Given the description of an element on the screen output the (x, y) to click on. 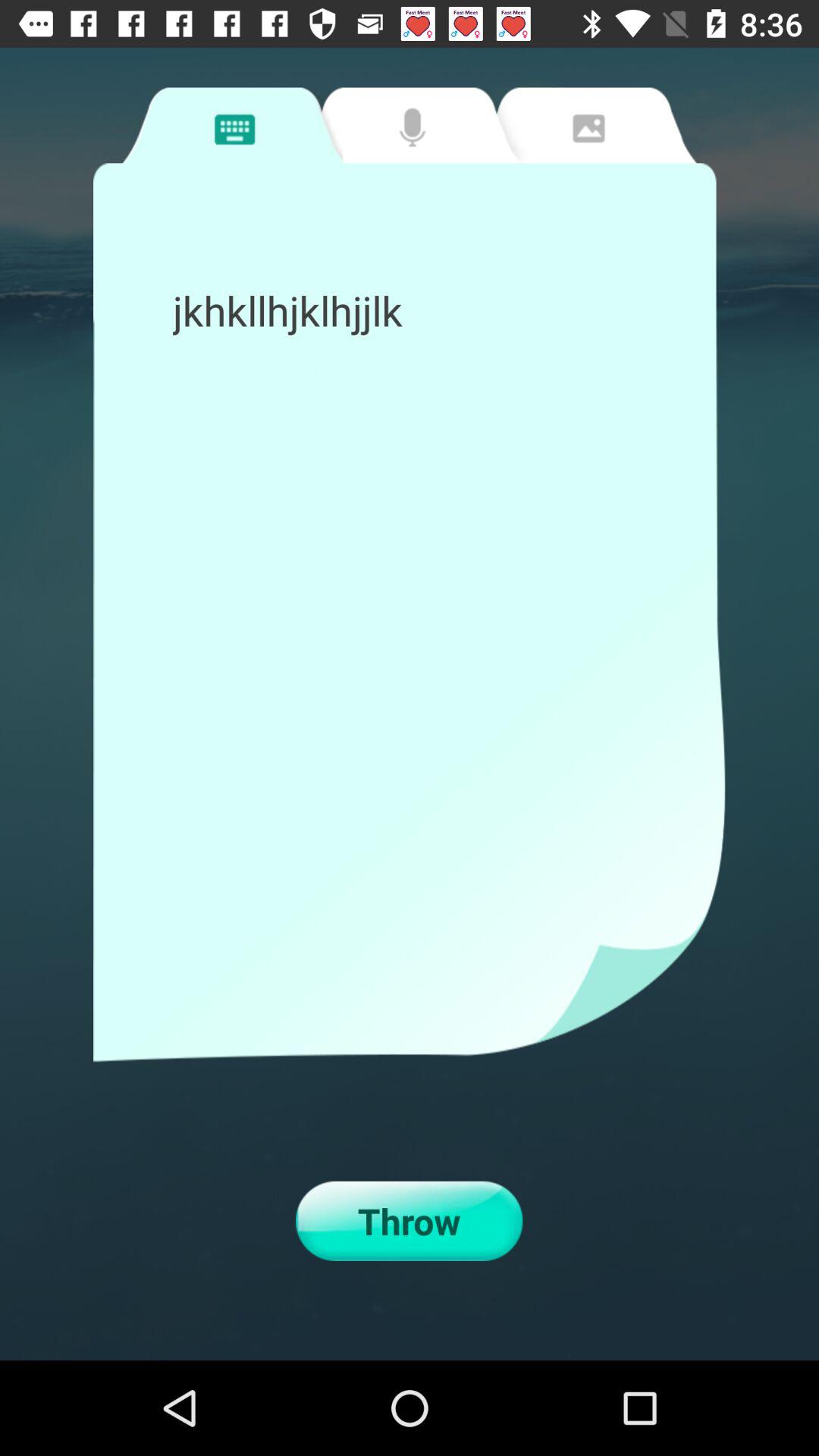
photos tab (586, 125)
